Given the description of an element on the screen output the (x, y) to click on. 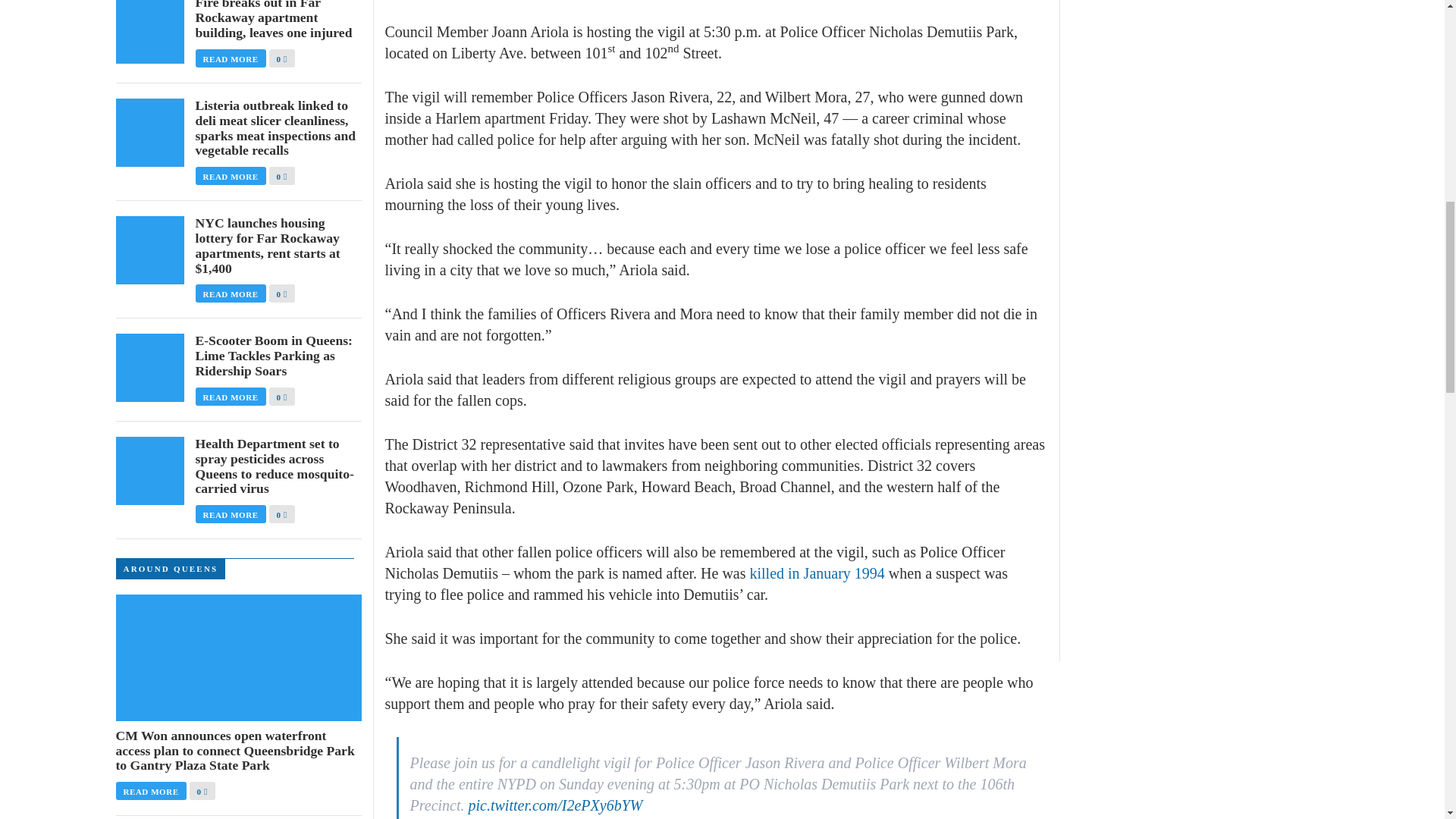
killed in January 1994 (816, 573)
